Given the description of an element on the screen output the (x, y) to click on. 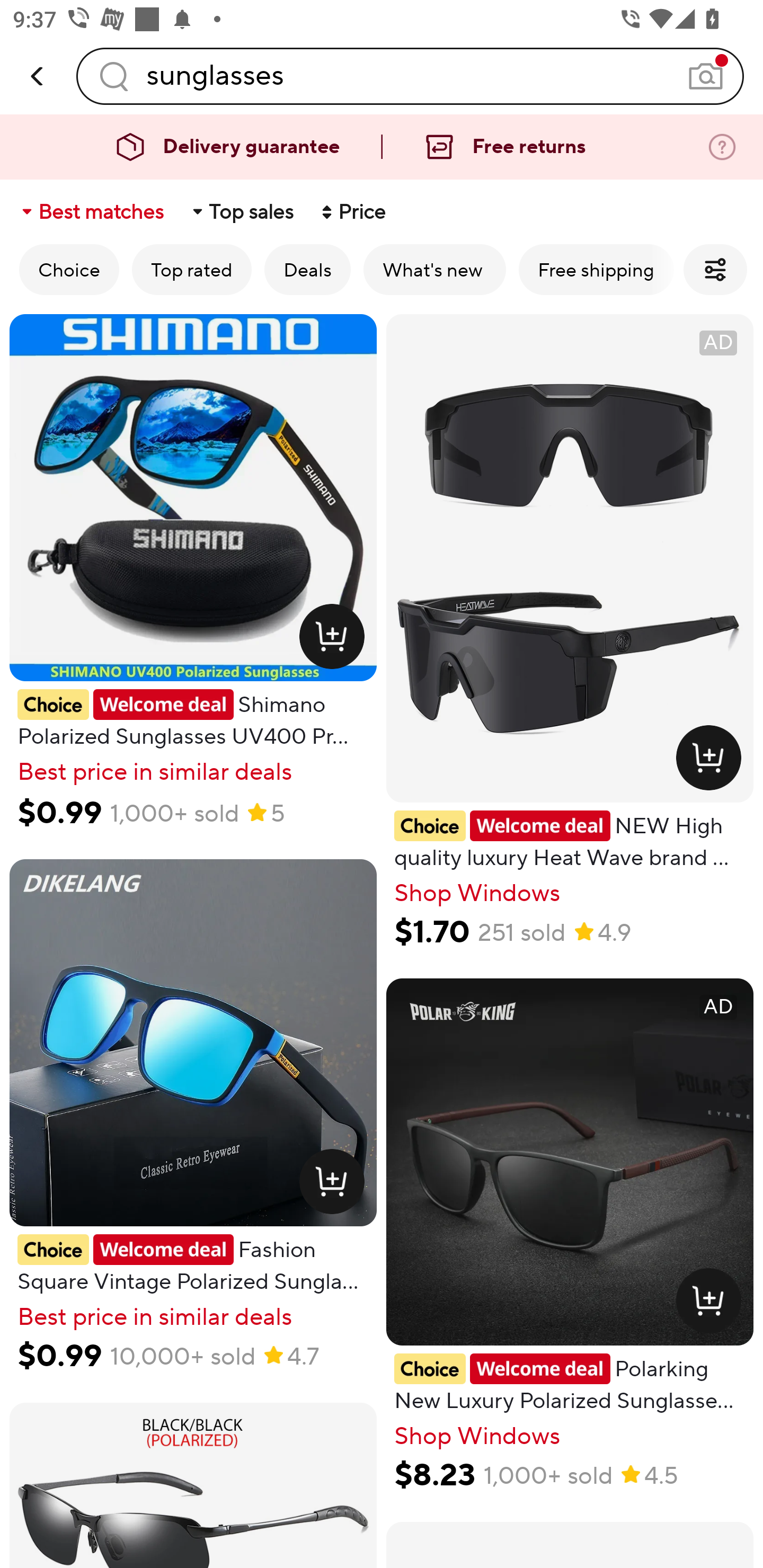
back (38, 75)
sunglasses Search query (409, 76)
sunglasses Search query (409, 76)
Best matches (91, 212)
Top sales (241, 212)
Price (352, 212)
Choice (69, 269)
Top rated (191, 269)
Deals (307, 269)
What's new  (434, 269)
Free shipping (595, 269)
